Given the description of an element on the screen output the (x, y) to click on. 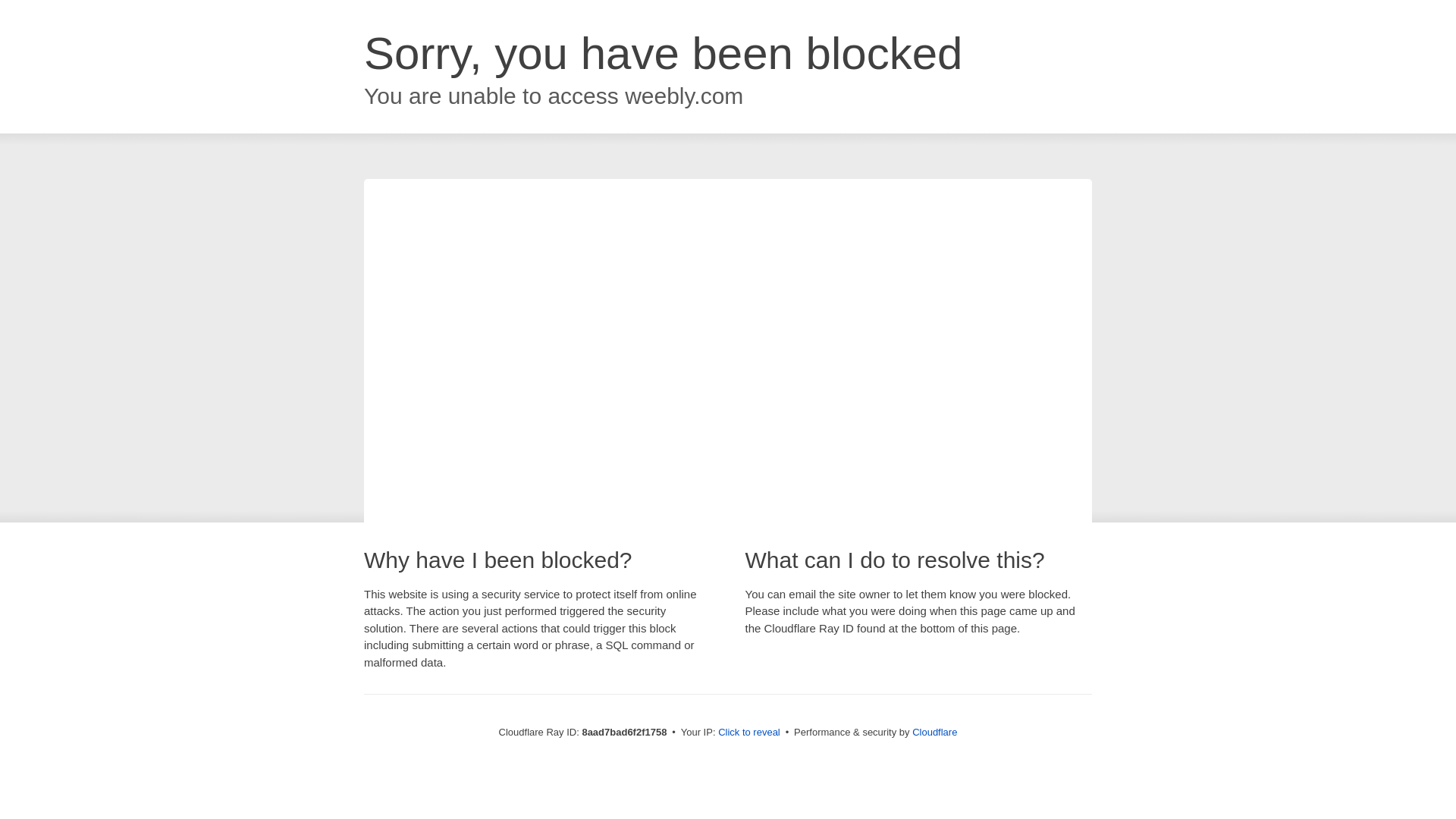
Click to reveal (748, 732)
Cloudflare (934, 731)
